Given the description of an element on the screen output the (x, y) to click on. 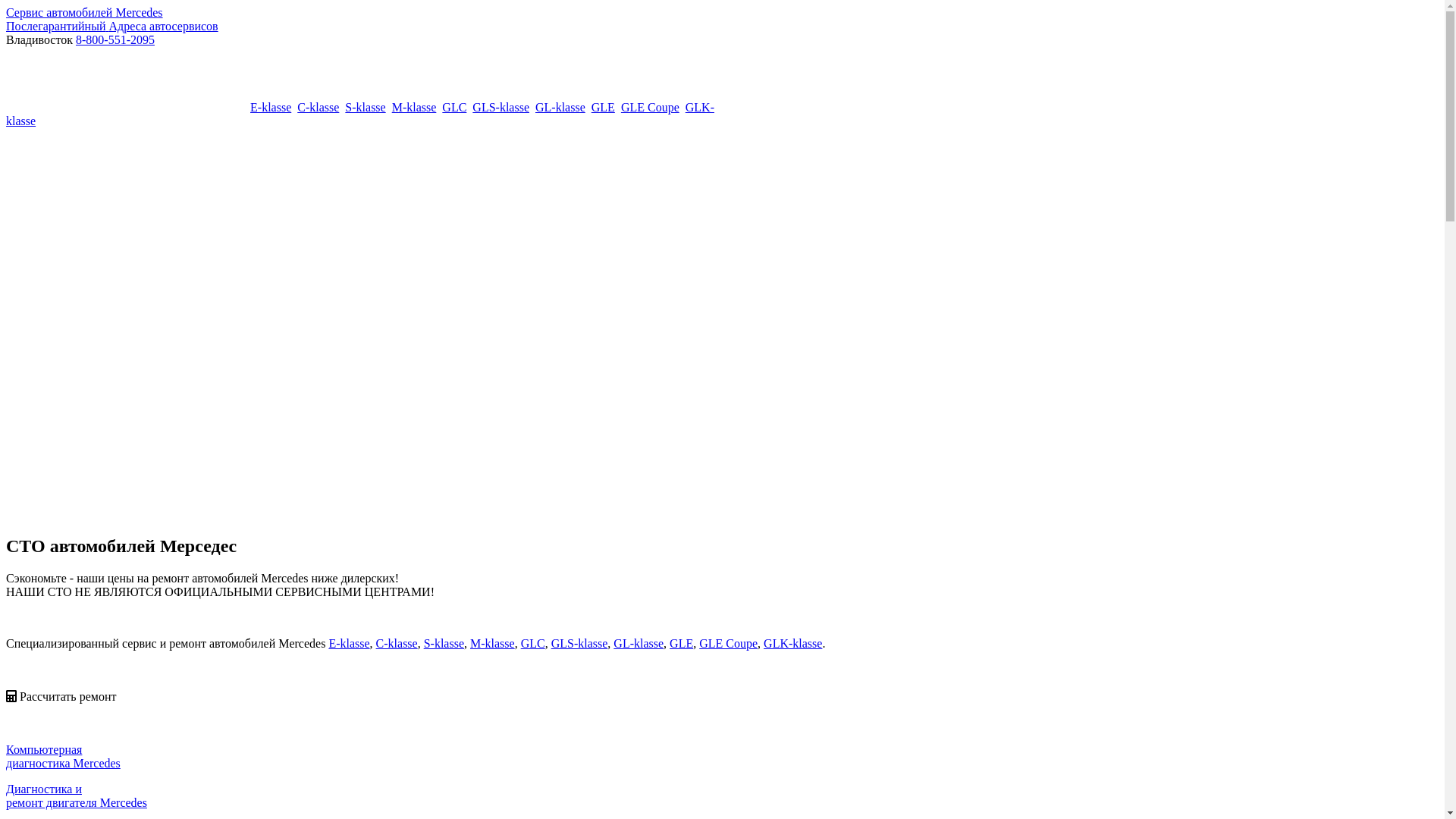
GLK-klasse Element type: text (792, 643)
GLS-klasse Element type: text (579, 643)
GLE Element type: text (603, 106)
E-klasse Element type: text (348, 643)
GLE Coupe Element type: text (650, 106)
GLC Element type: text (532, 643)
GLS-klasse Element type: text (500, 106)
GL-klasse Element type: text (638, 643)
S-klasse Element type: text (365, 106)
M-klasse Element type: text (492, 643)
GLE Element type: text (681, 643)
M-klasse Element type: text (414, 106)
GLC Element type: text (454, 106)
GLK-klasse Element type: text (360, 113)
C-klasse Element type: text (396, 643)
8-800-551-2095 Element type: text (114, 39)
S-klasse Element type: text (443, 643)
GLE Coupe Element type: text (728, 643)
E-klasse Element type: text (270, 106)
GL-klasse Element type: text (560, 106)
C-klasse Element type: text (317, 106)
